Given the description of an element on the screen output the (x, y) to click on. 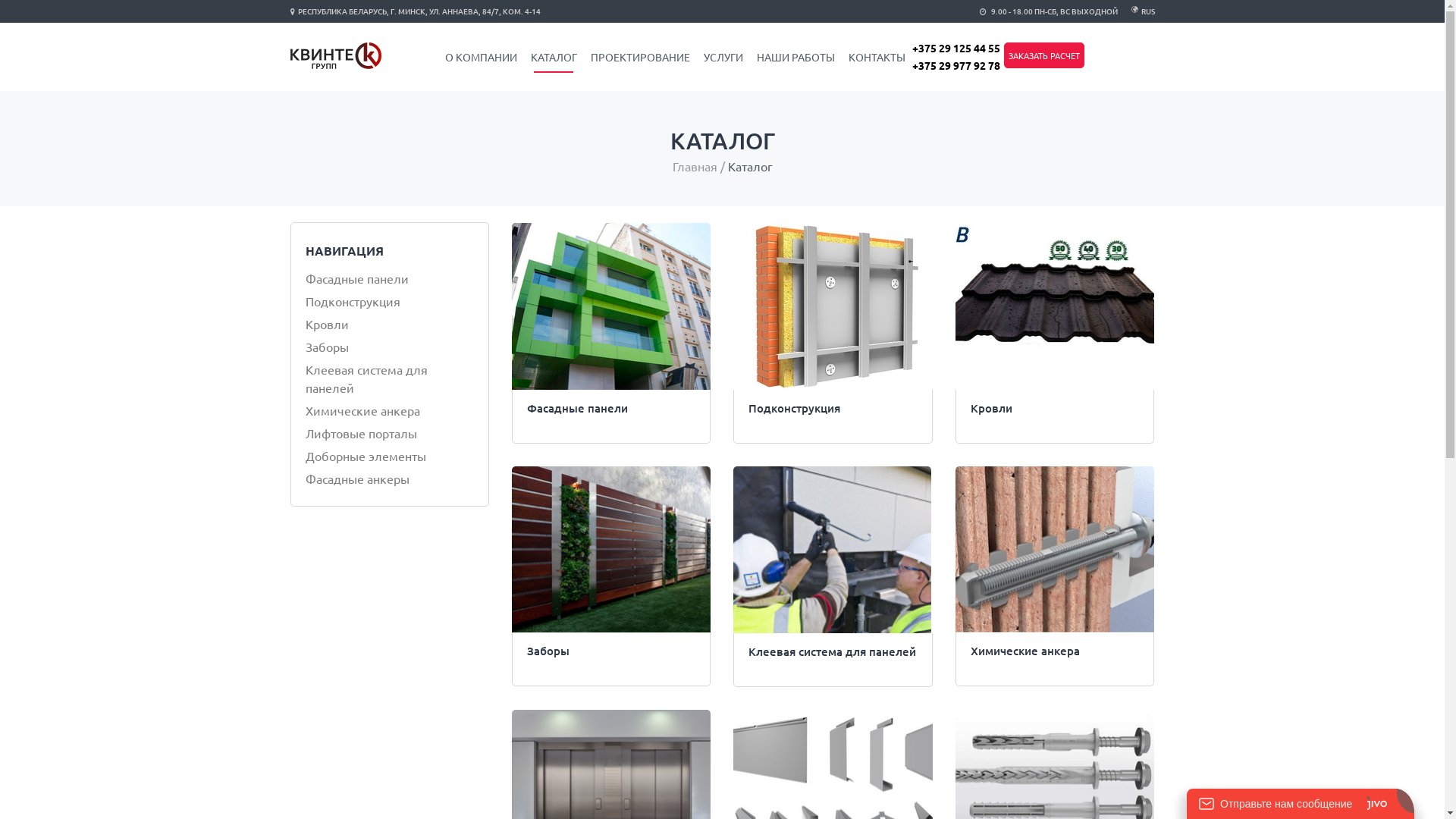
+375 29 125 44 55 Element type: text (955, 47)
+375 29 977 92 78 Element type: text (955, 65)
